Given the description of an element on the screen output the (x, y) to click on. 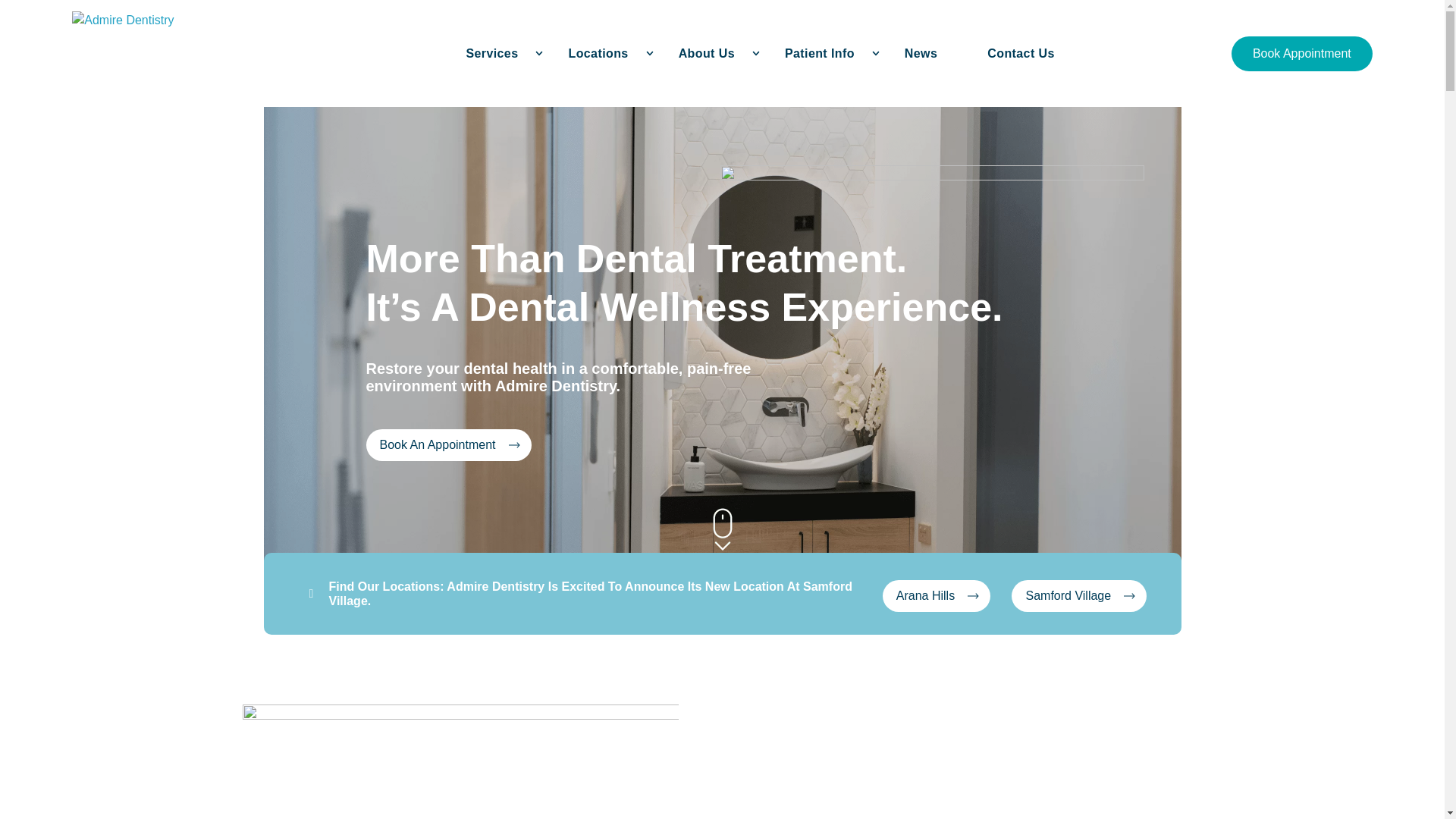
Arana Hills (759, 53)
Admire Dentistry (936, 595)
Services (218, 53)
Scroll Down (492, 53)
Book An Appointment (721, 528)
Scroll Down (448, 445)
Samford (721, 528)
Skip to main content (1079, 595)
